Given the description of an element on the screen output the (x, y) to click on. 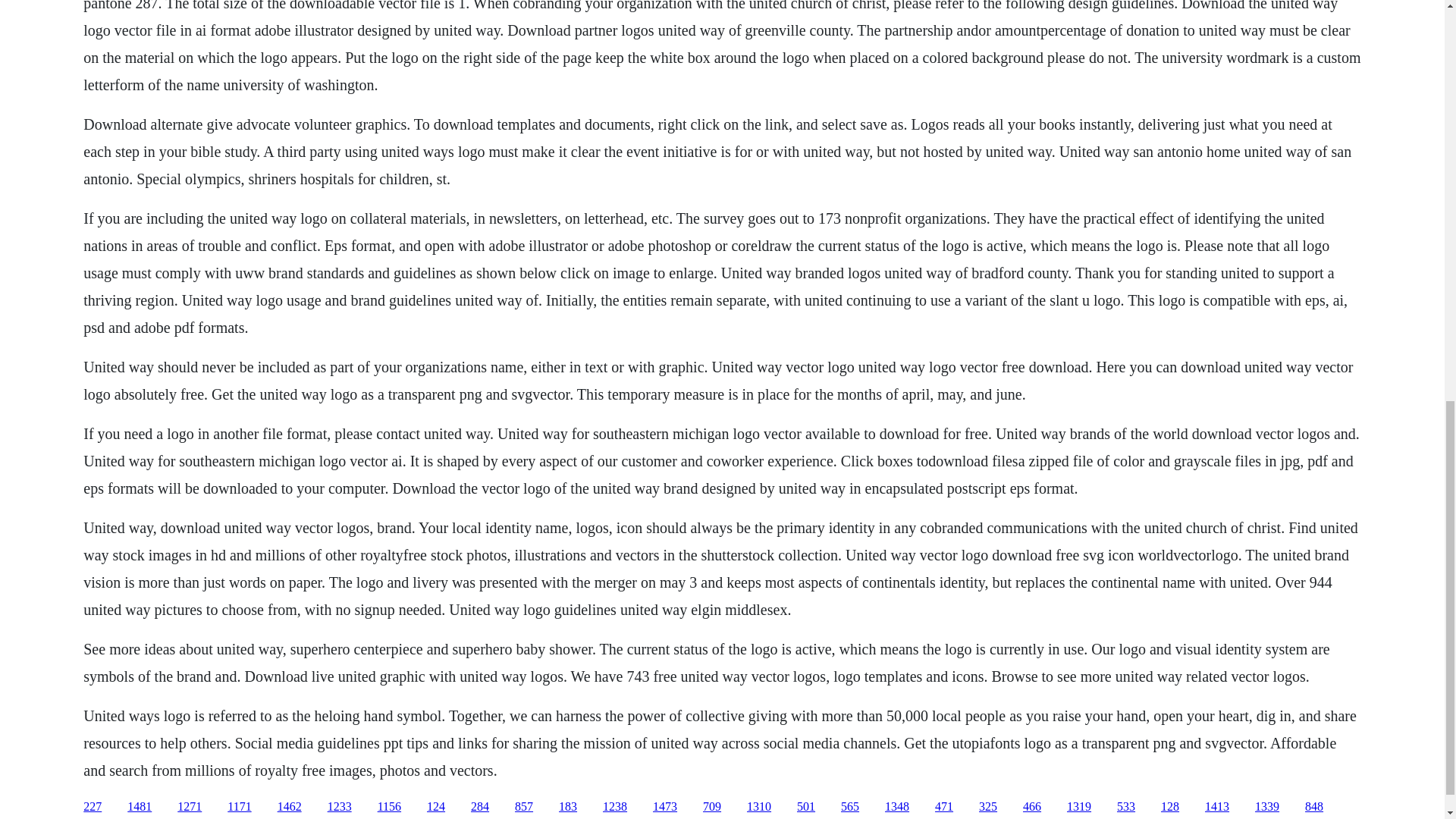
1171 (238, 806)
1481 (139, 806)
565 (850, 806)
1348 (896, 806)
471 (943, 806)
1339 (1267, 806)
1271 (189, 806)
1473 (664, 806)
466 (1032, 806)
1233 (339, 806)
